Given the description of an element on the screen output the (x, y) to click on. 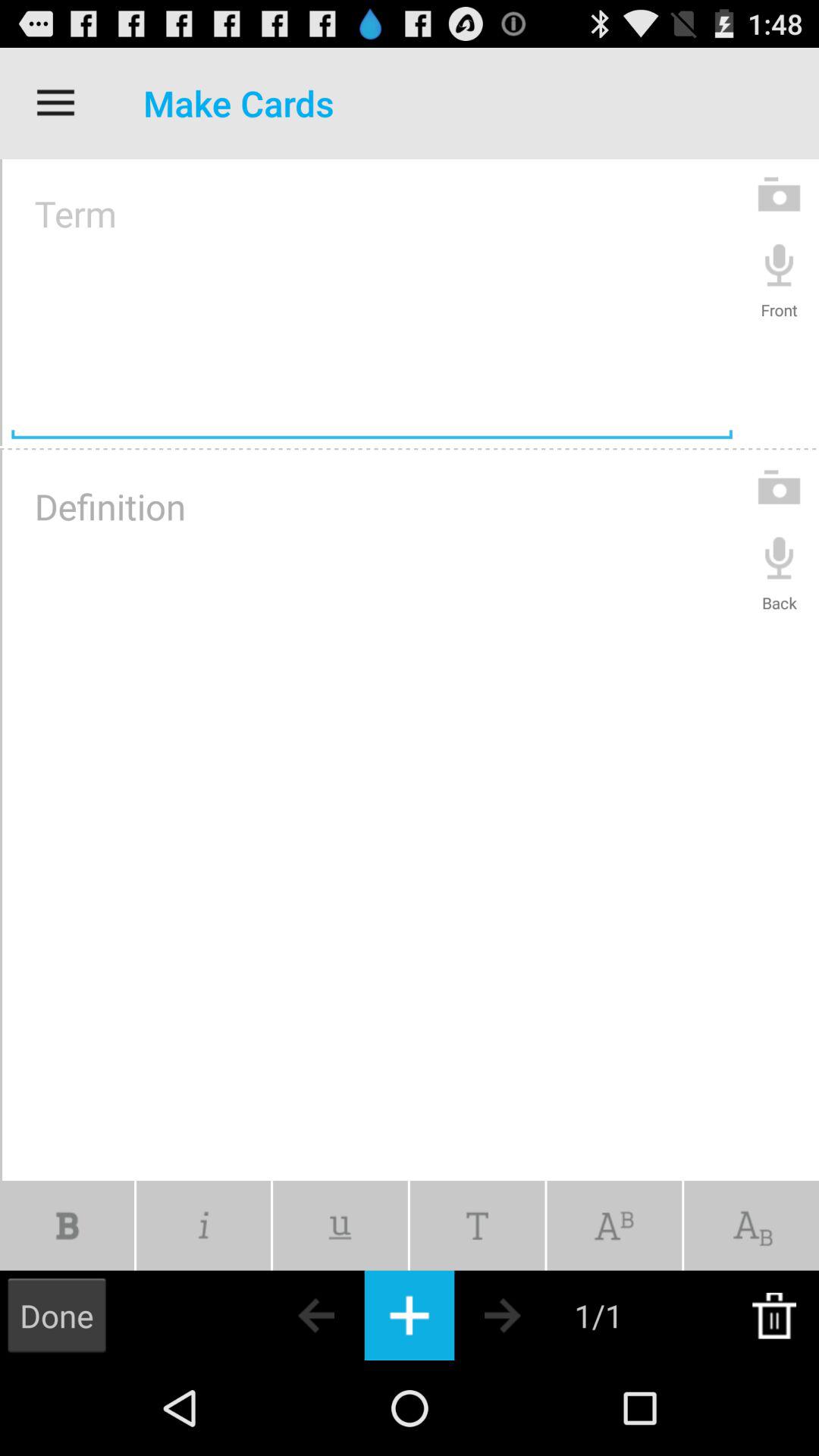
shows underlined icon (340, 1225)
